Given the description of an element on the screen output the (x, y) to click on. 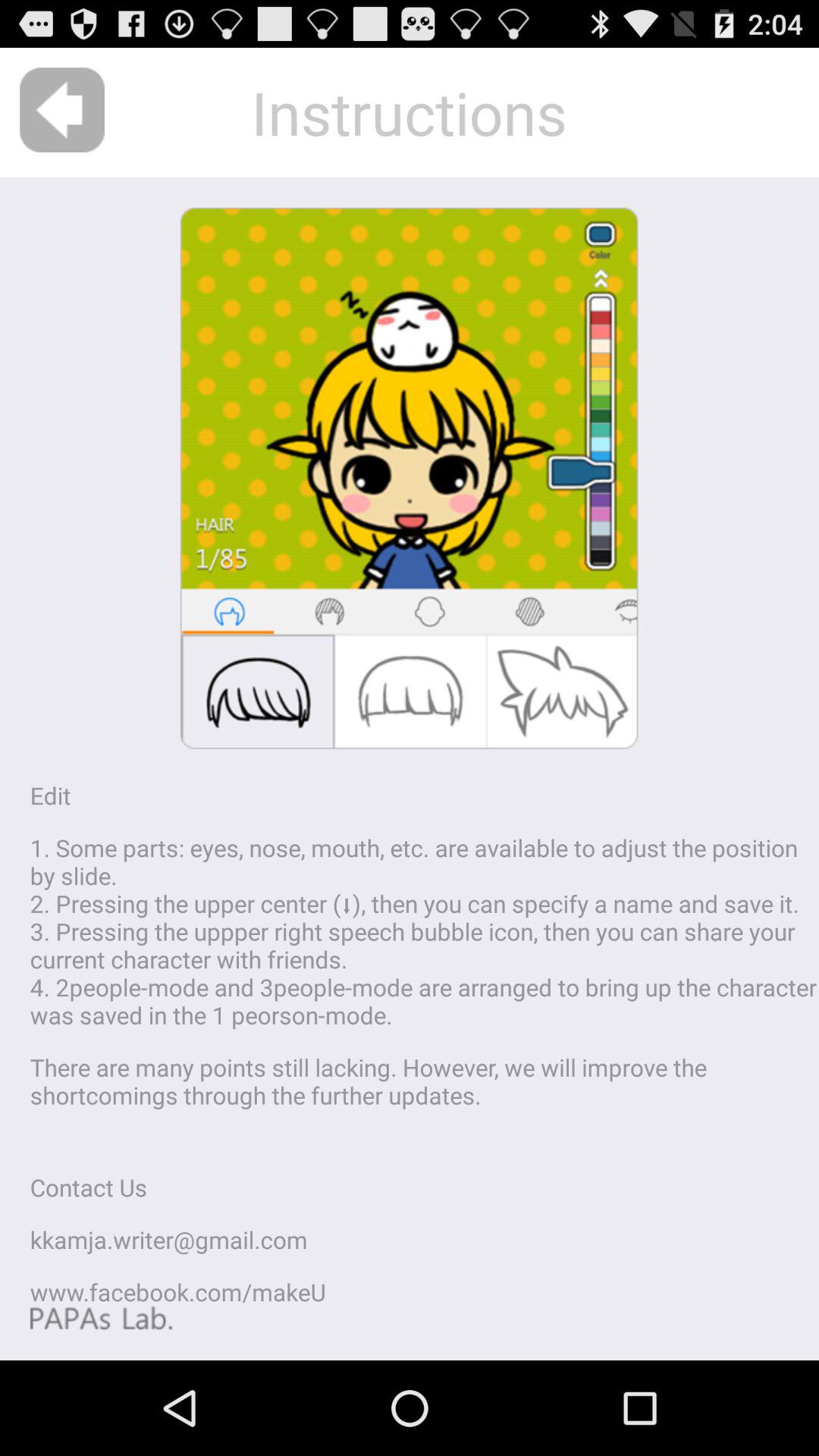
tap the www facebook com app (177, 1291)
